Given the description of an element on the screen output the (x, y) to click on. 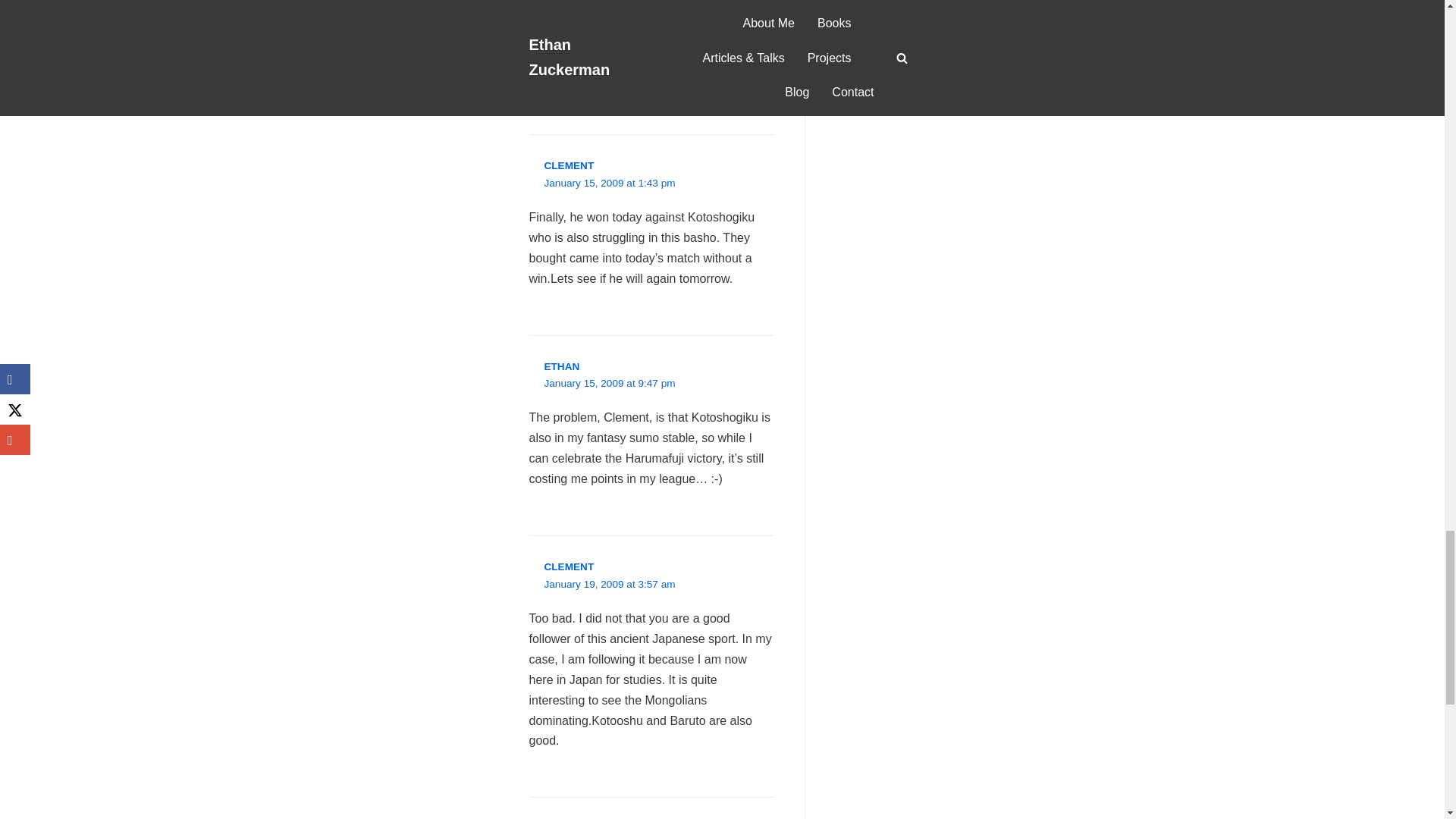
CLEMENT (569, 165)
January 19, 2009 at 3:57 am (609, 584)
January 15, 2009 at 9:47 pm (609, 384)
CLEMENT (569, 566)
January 15, 2009 at 1:43 pm (609, 183)
ETHAN (561, 366)
